Given the description of an element on the screen output the (x, y) to click on. 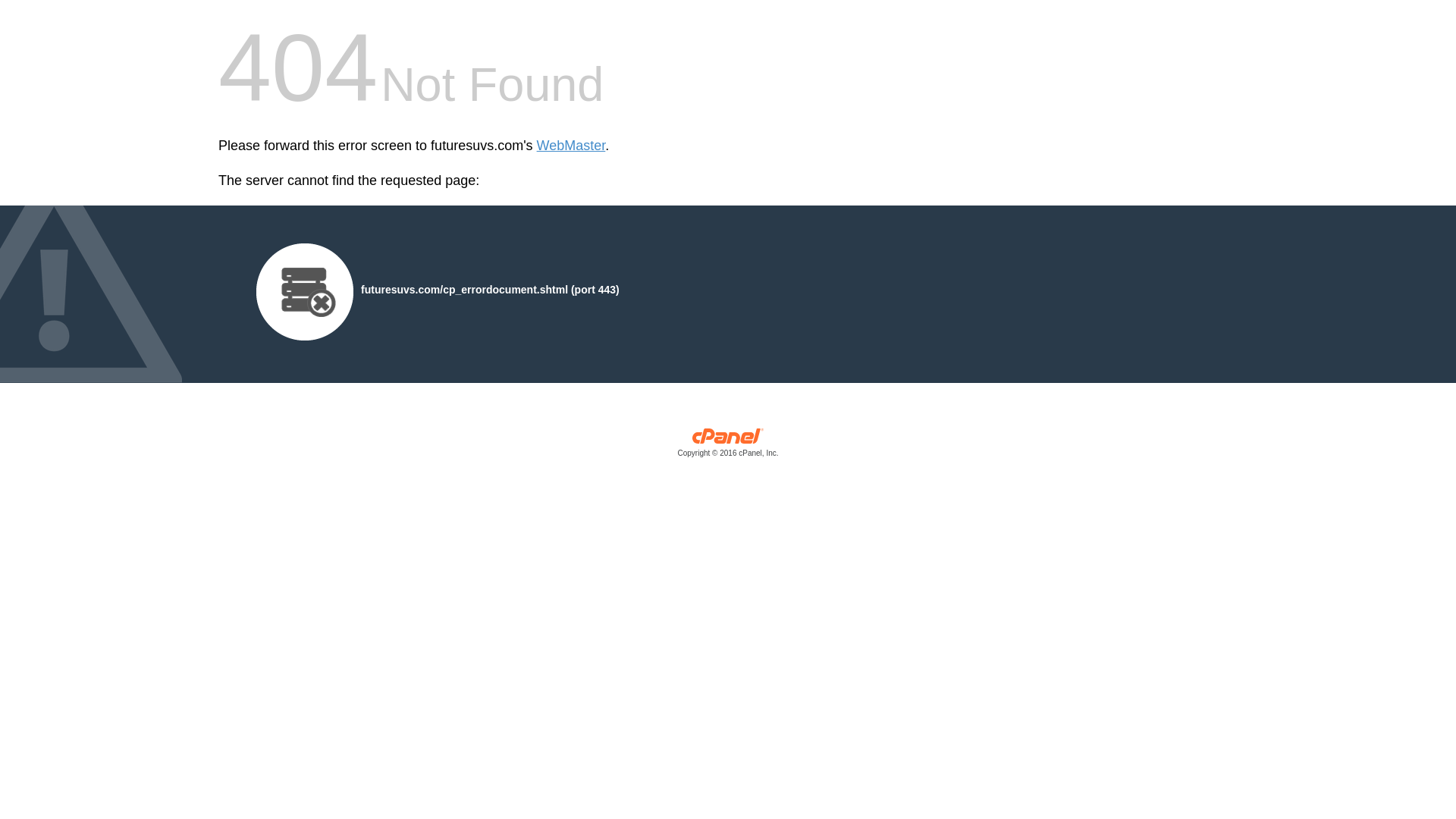
WebMaster (571, 145)
cPanel, Inc. (727, 446)
